Given the description of an element on the screen output the (x, y) to click on. 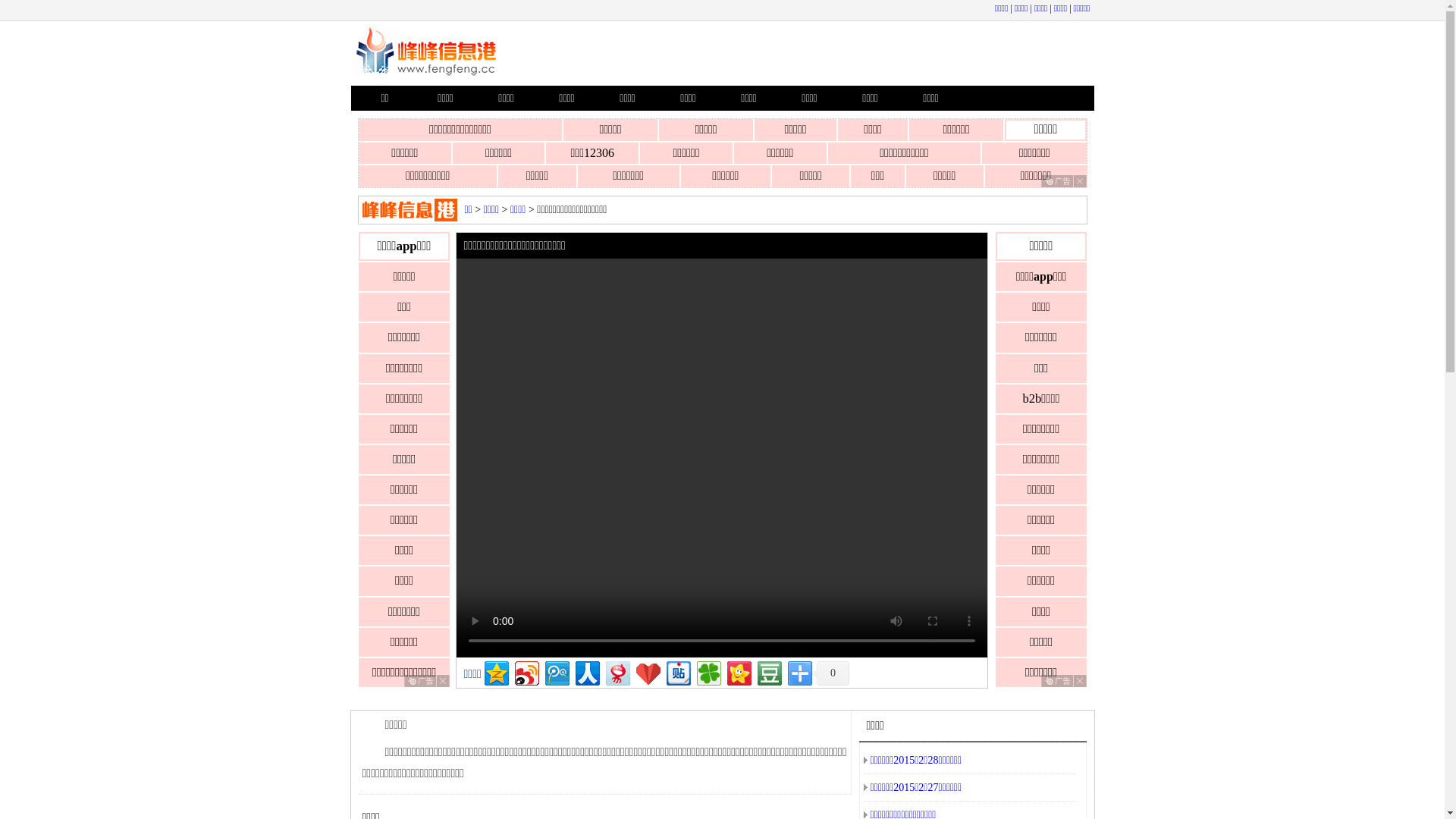
0 Element type: text (830, 673)
